Given the description of an element on the screen output the (x, y) to click on. 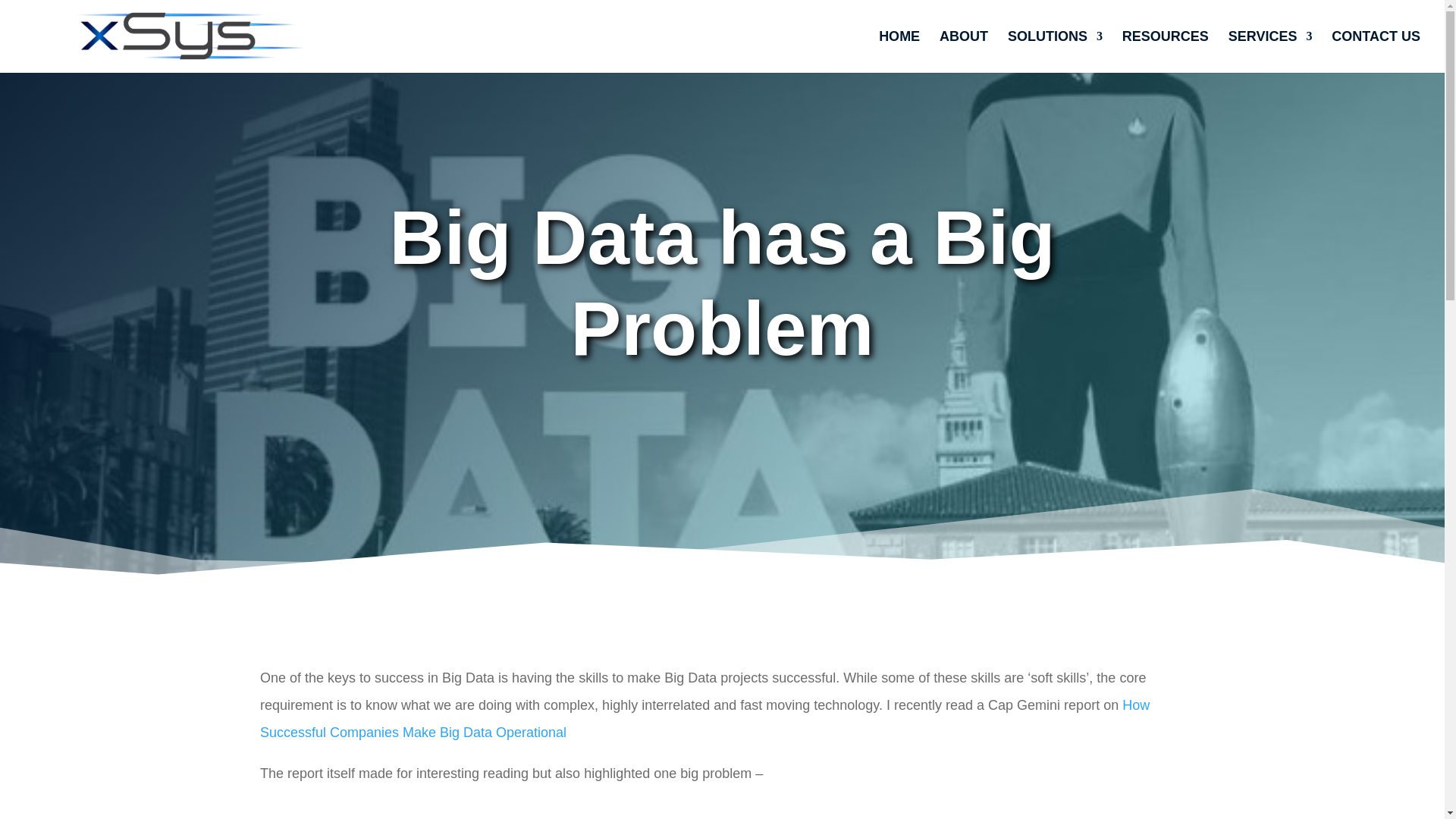
RESOURCES (1165, 51)
How Successful Companies Make Big Data Operational  (705, 718)
HOME (899, 51)
SOLUTIONS (1054, 51)
CONTACT US (1376, 51)
SERVICES (1270, 51)
ABOUT (963, 51)
